Given the description of an element on the screen output the (x, y) to click on. 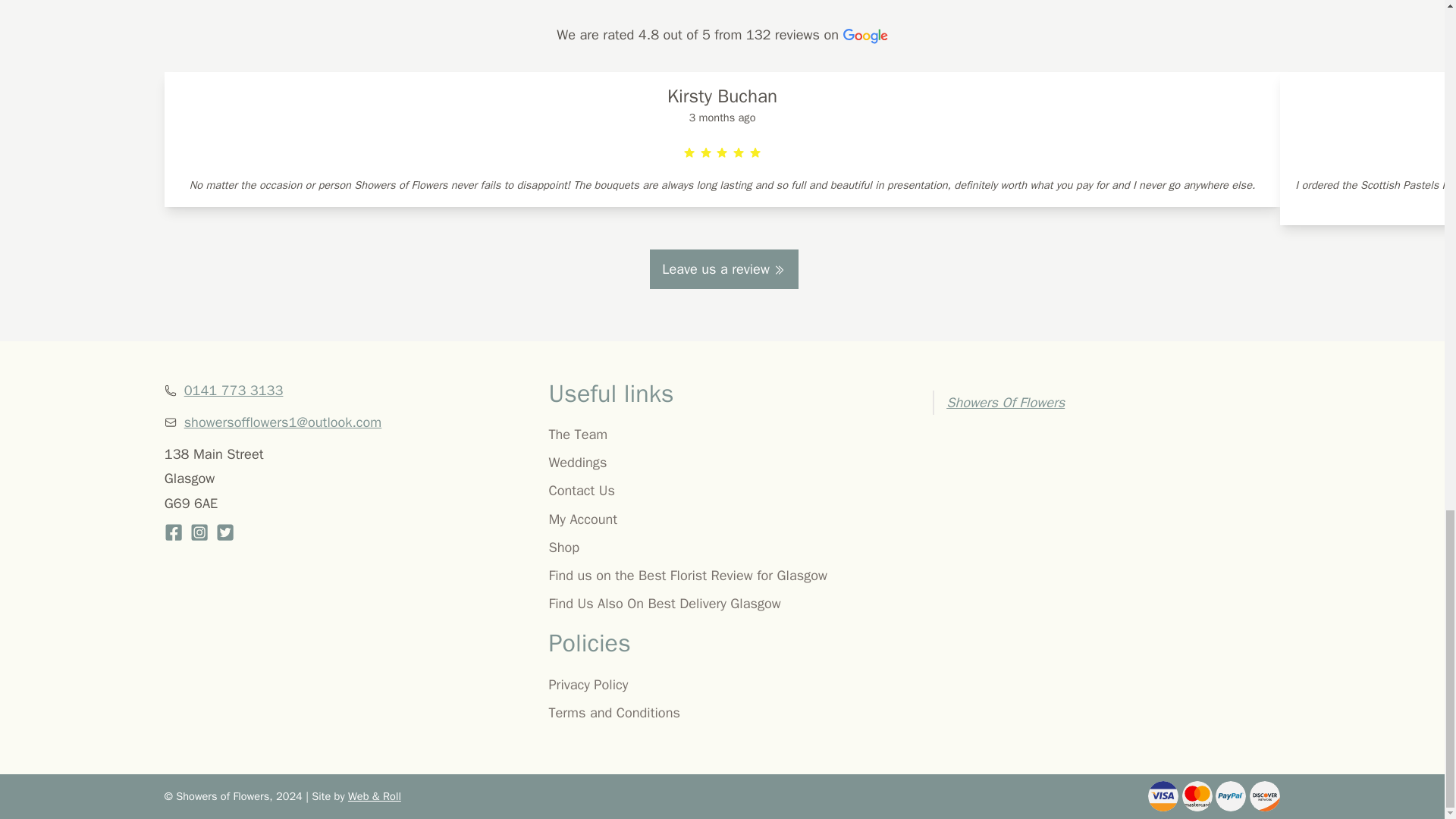
Weddings (721, 462)
Leave us a review (723, 269)
Find Us Also On Best Delivery Glasgow (721, 603)
Contact Us (721, 490)
0141 773 3133 (233, 390)
Terms and Conditions (721, 712)
Shop (721, 547)
My Account (721, 518)
Leave us a review (723, 269)
Google logo (865, 36)
Showers Of Flowers (1005, 402)
Privacy Policy (721, 684)
Find us on the Best Florist Review for Glasgow (721, 575)
The Team (721, 434)
